Given the description of an element on the screen output the (x, y) to click on. 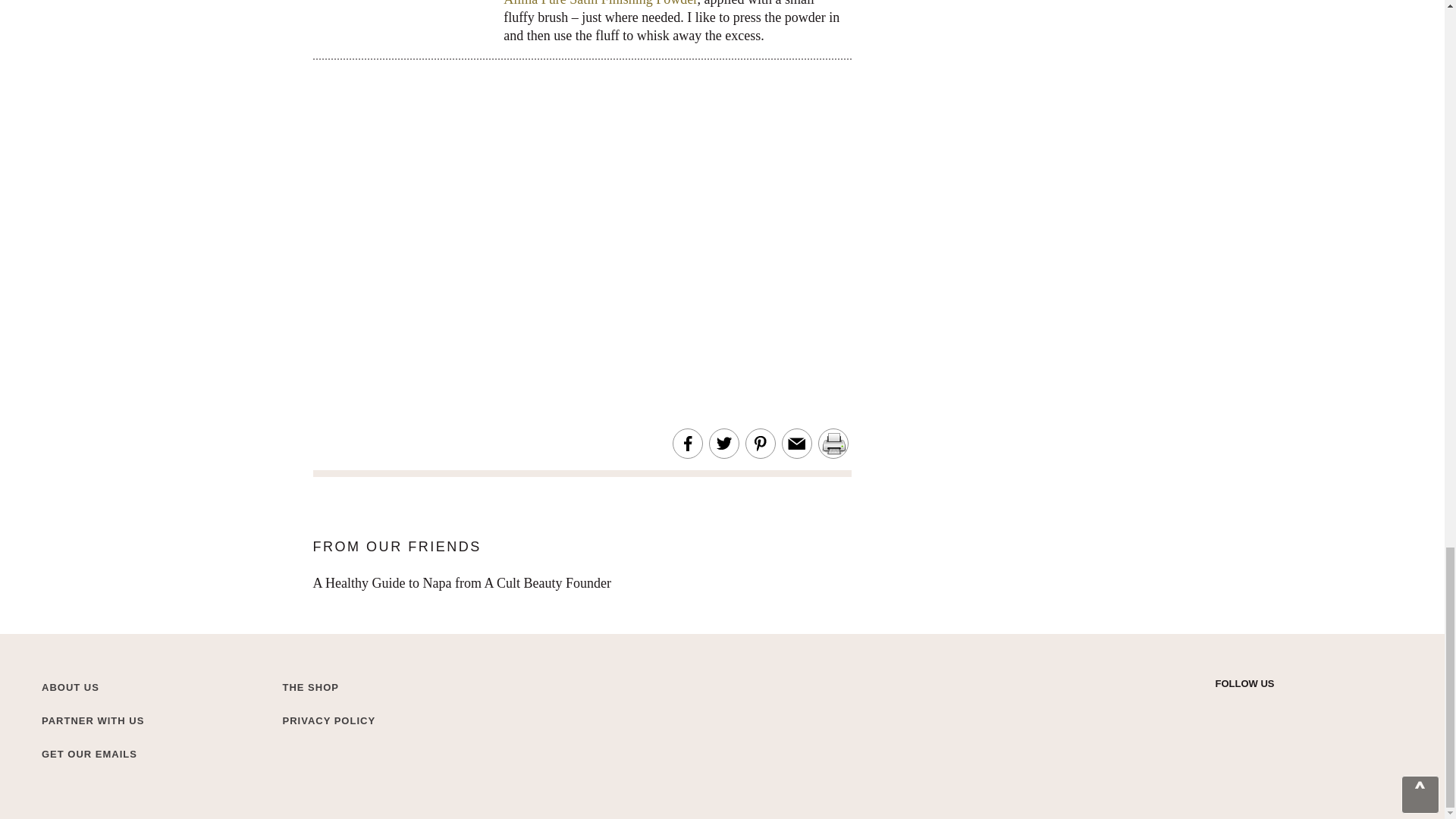
Share this article on Twitter (724, 443)
Email this article (797, 443)
Pinterest (1302, 708)
Share an image of this article on Pinterest (760, 443)
Twitter (1222, 708)
Share this article on Facebook (687, 443)
Instagram (1249, 708)
Facebook (1275, 708)
